Given the description of an element on the screen output the (x, y) to click on. 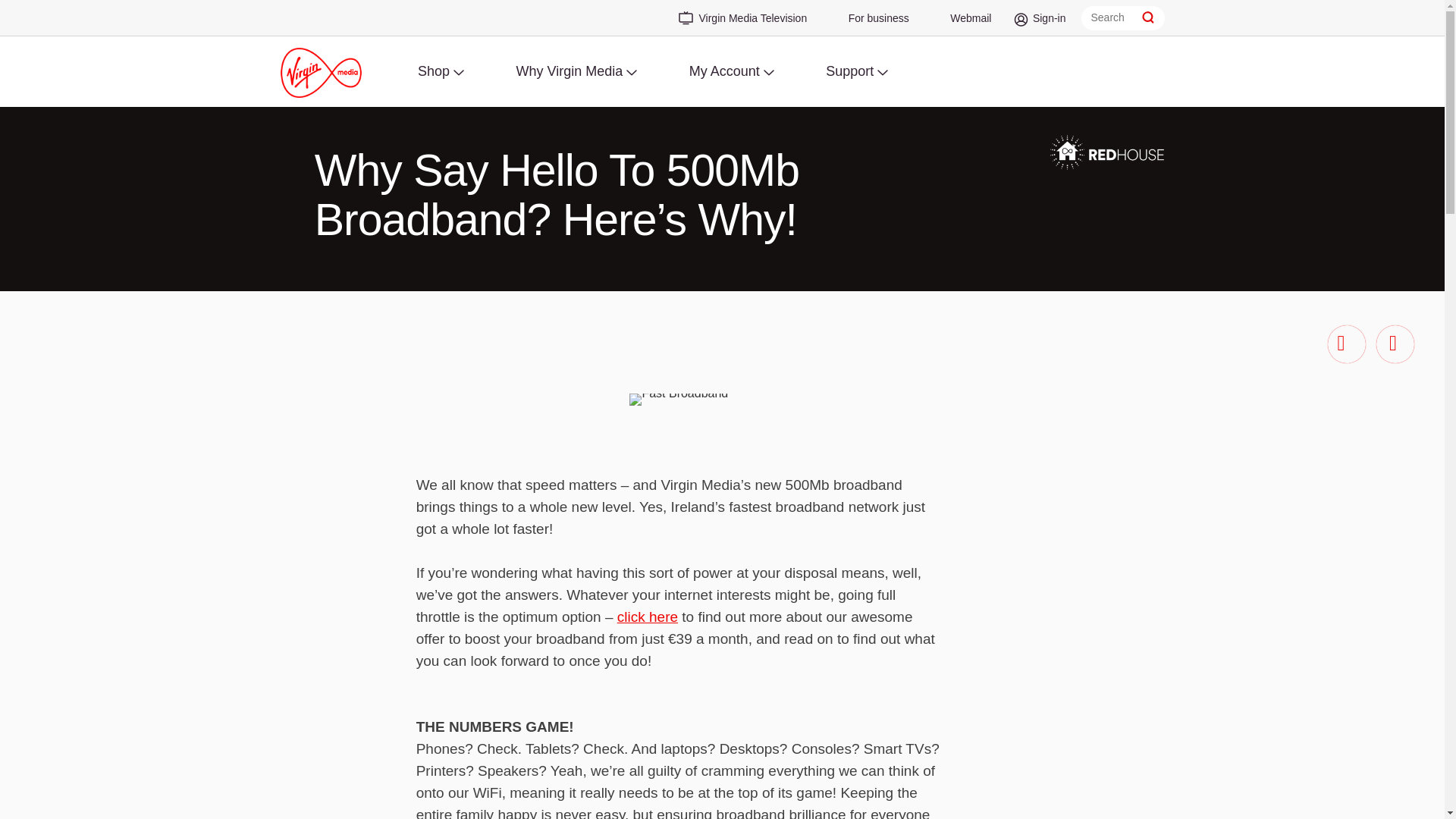
Webmail (962, 22)
Sign-in (1042, 22)
Virgin Media Television (737, 20)
For business (871, 22)
